Given the description of an element on the screen output the (x, y) to click on. 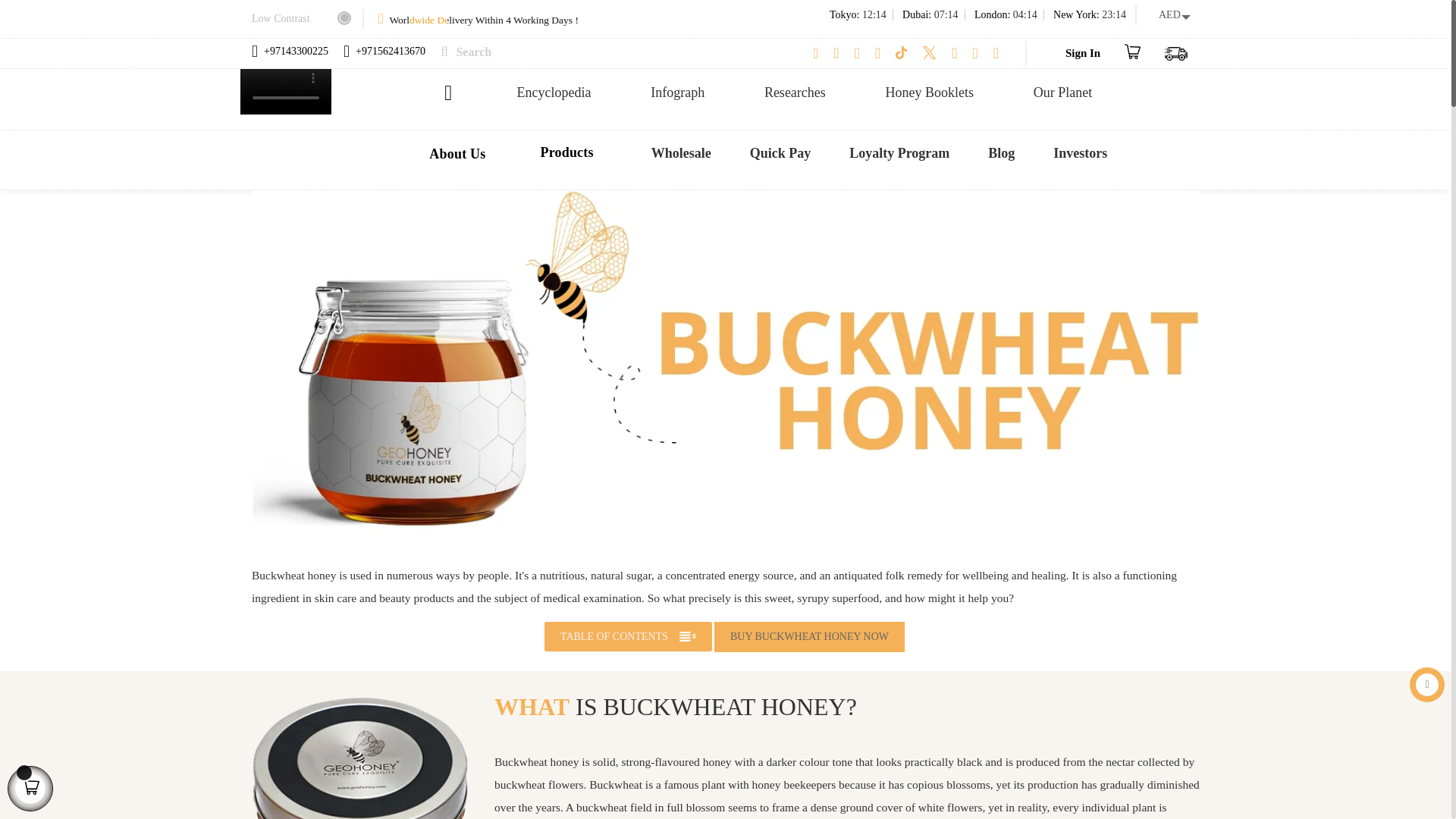
Track Order (1176, 52)
Blog (1001, 152)
Quick Pay (779, 152)
23:14 (1113, 14)
Encyclopedia (553, 92)
Search (458, 51)
Researches (794, 92)
Infograph (677, 92)
Investors (1079, 152)
07:14 (946, 14)
Loyalty Program (898, 152)
12:14 (873, 14)
Products (569, 152)
Wholesale (680, 152)
About Us (457, 153)
